Given the description of an element on the screen output the (x, y) to click on. 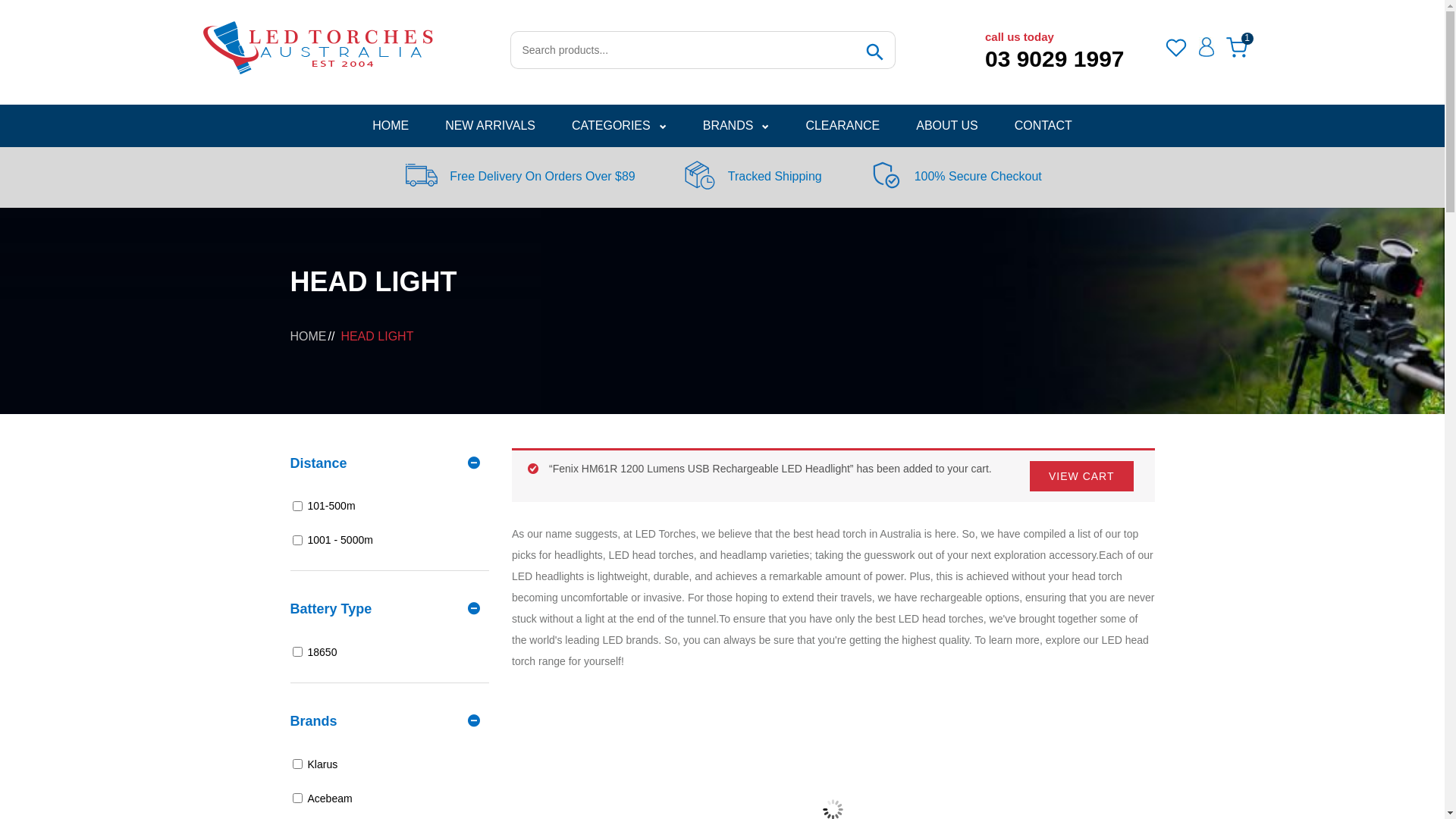
HOME Element type: text (390, 125)
CONTACT Element type: text (1043, 125)
1 Element type: text (1235, 47)
ABOUT US Element type: text (946, 125)
VIEW CART Element type: text (1081, 476)
BRANDS Element type: text (735, 125)
CLEARANCE Element type: text (842, 125)
NEW ARRIVALS Element type: text (489, 125)
03 9029 1997 Element type: text (1054, 58)
CATEGORIES Element type: text (618, 125)
HOME Element type: text (307, 335)
